Given the description of an element on the screen output the (x, y) to click on. 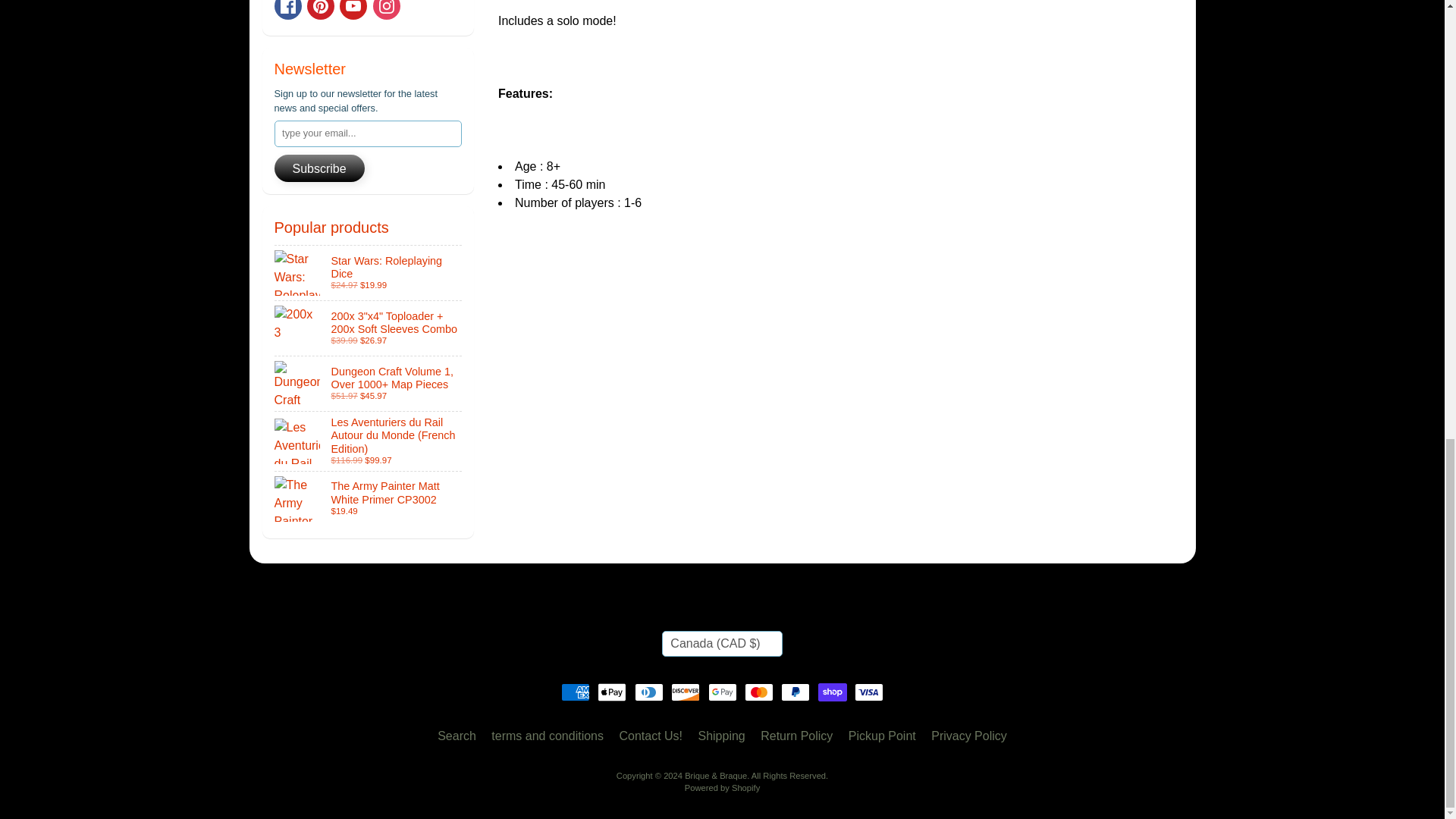
Apple Pay (611, 692)
PayPal (794, 692)
Diners Club (648, 692)
Shop Pay (832, 692)
Youtube (352, 9)
Google Pay (721, 692)
American Express (574, 692)
The Army Painter Matt White Primer CP3002 (369, 498)
Star Wars: Roleplaying Dice (369, 272)
Visa (868, 692)
